Given the description of an element on the screen output the (x, y) to click on. 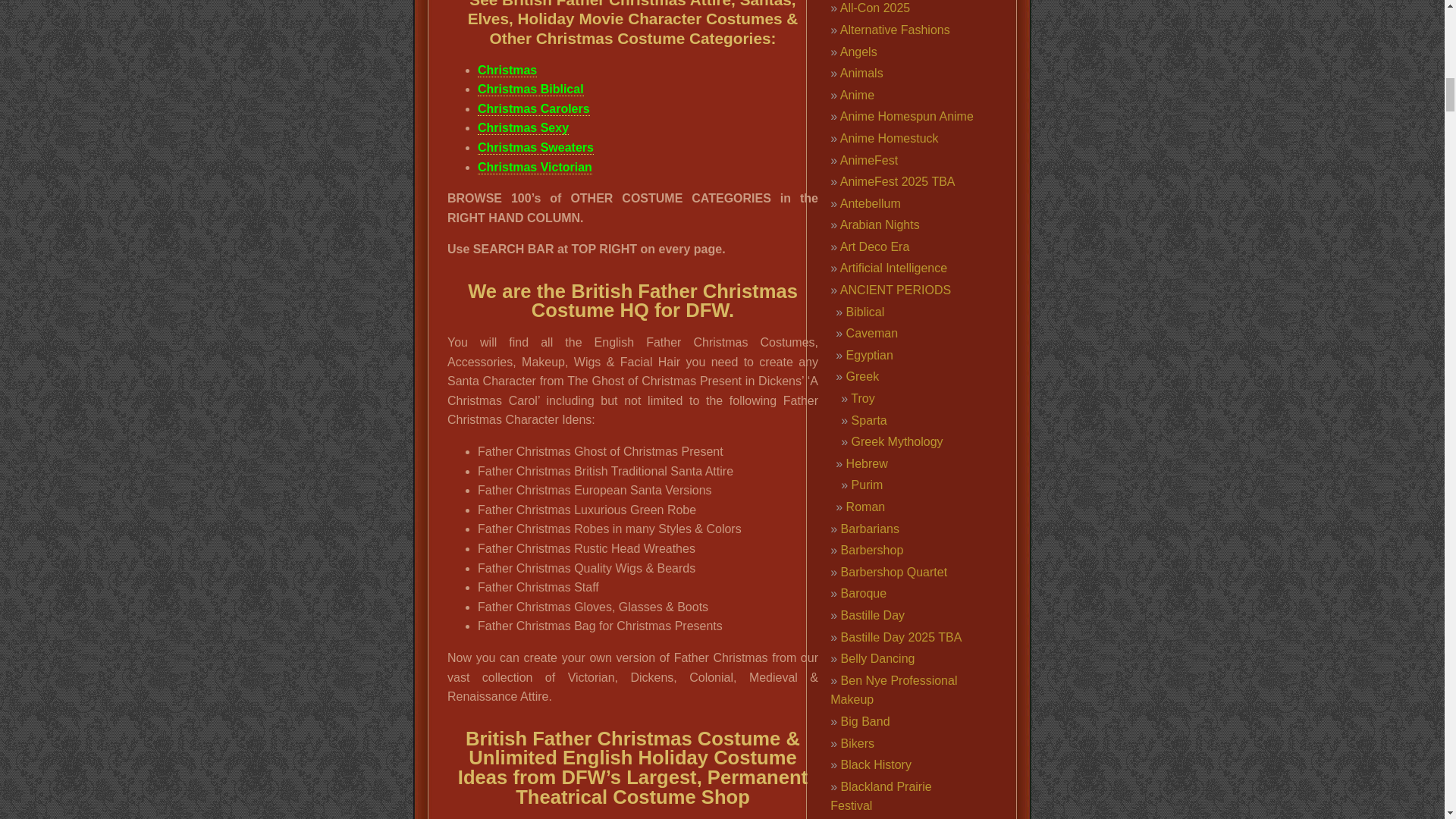
Christmas Sexy (523, 128)
Christmas Victorian (534, 167)
Christmas Biblical (530, 89)
Christmas Carolers (533, 109)
Christmas (507, 69)
Christmas Sweaters (535, 147)
